Given the description of an element on the screen output the (x, y) to click on. 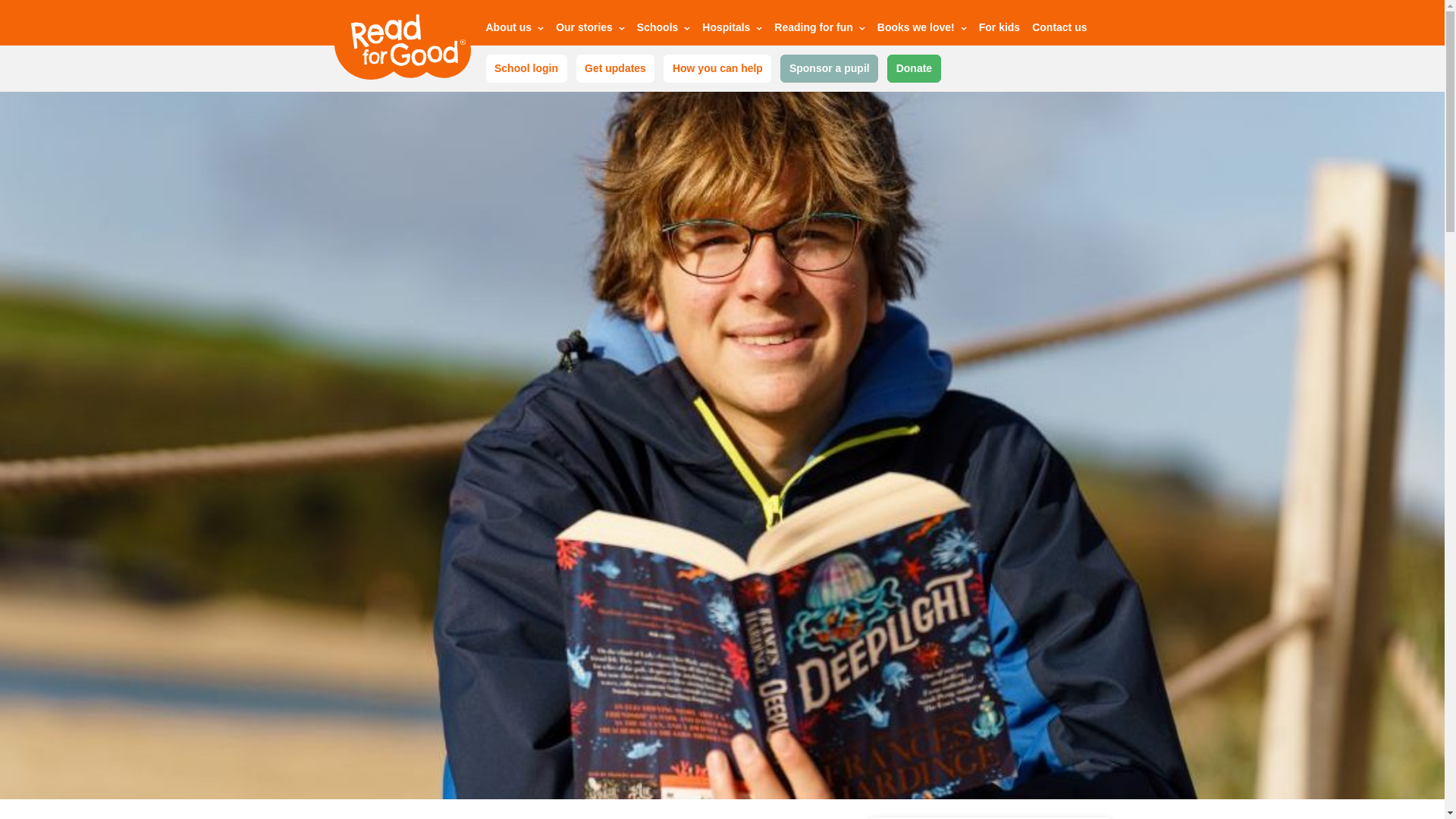
Our stories (590, 29)
Books we love! (921, 29)
Schools (663, 29)
Hospitals (731, 29)
Reading for fun (819, 29)
About us (513, 29)
